Given the description of an element on the screen output the (x, y) to click on. 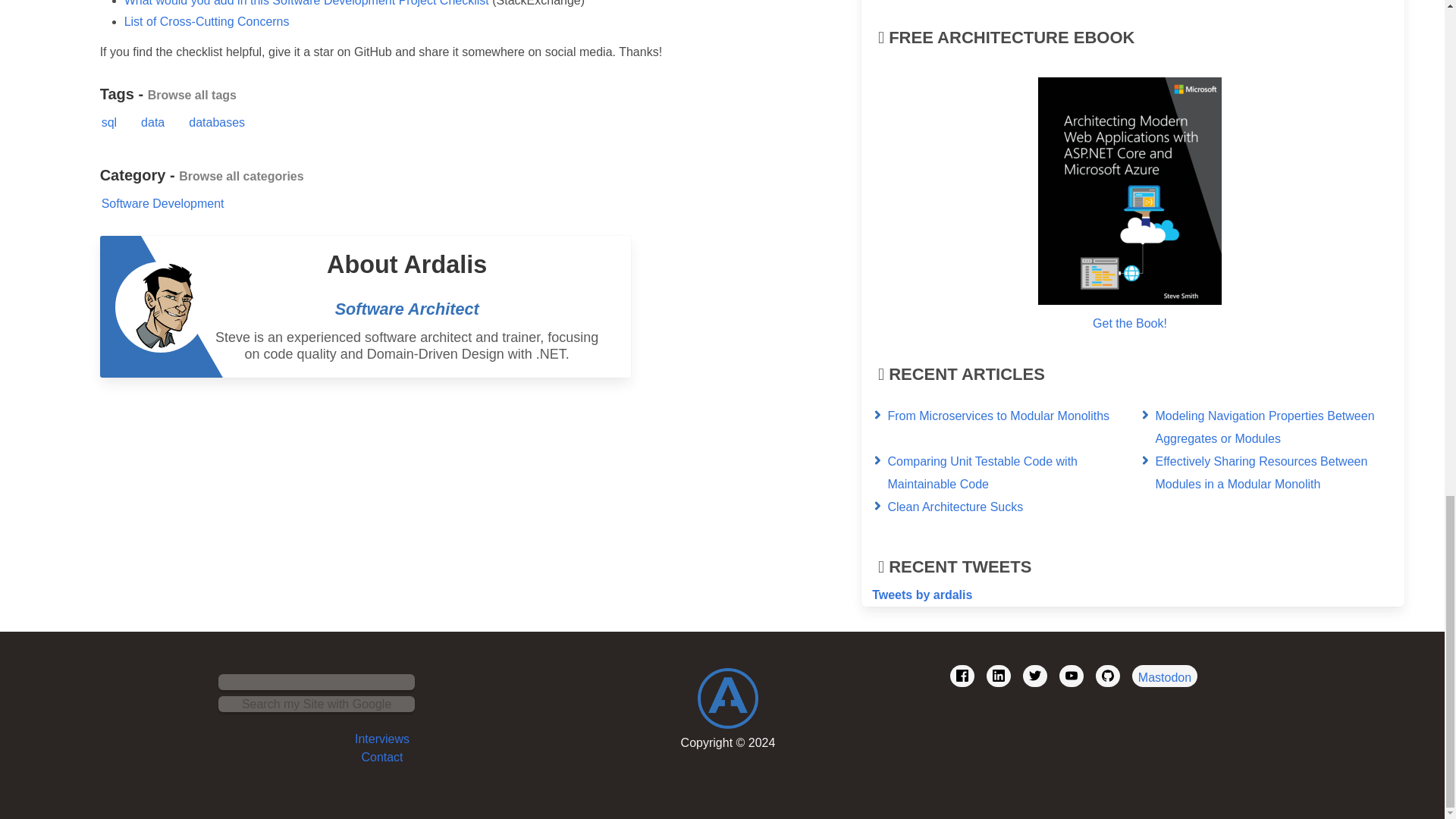
linkedin (998, 676)
github (1107, 676)
Browse all categories (241, 175)
data (152, 122)
Browse all tags (191, 94)
databases (216, 122)
facebook (962, 676)
Software Development (162, 203)
List of Cross-Cutting Concerns (206, 21)
